Given the description of an element on the screen output the (x, y) to click on. 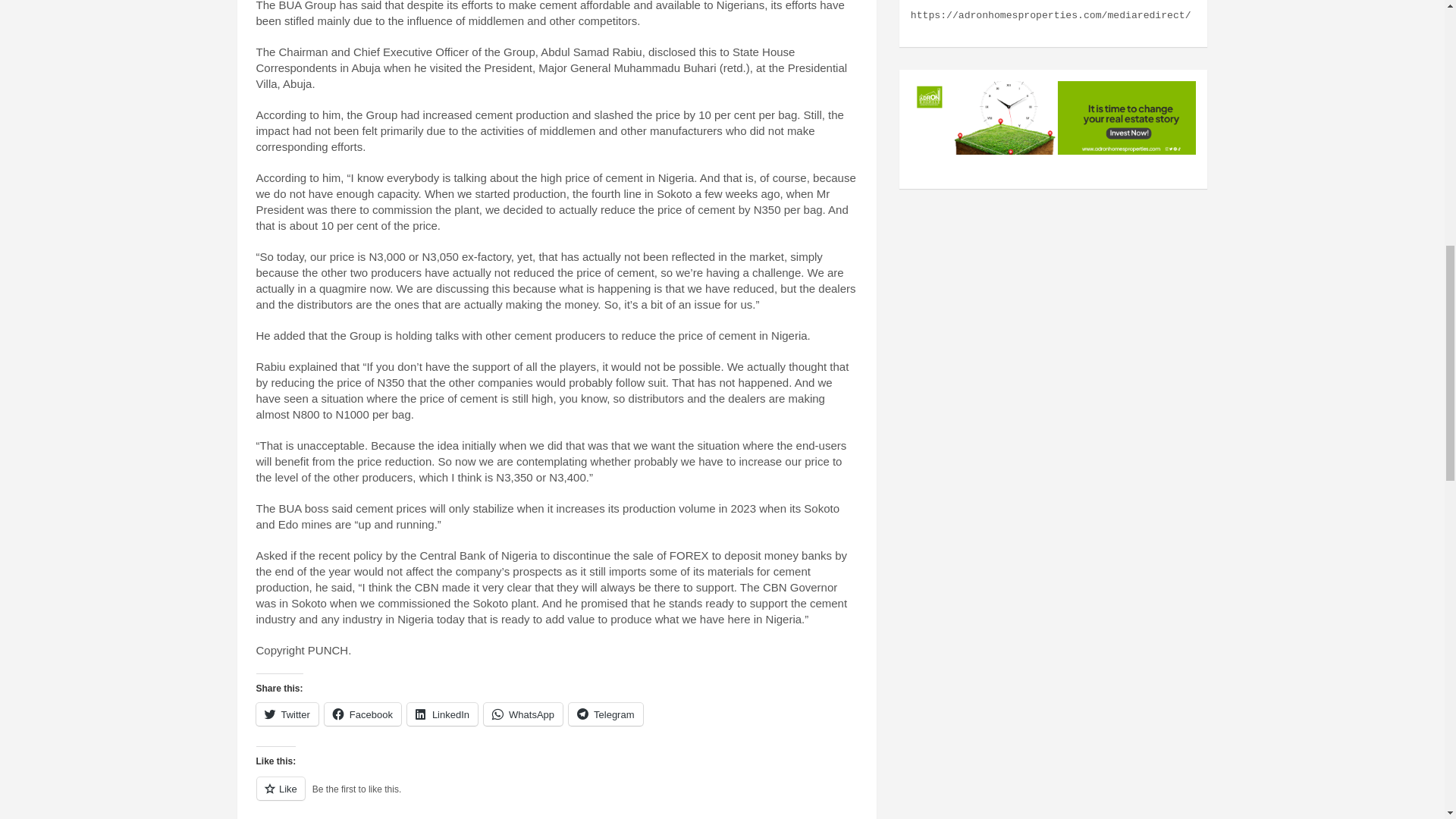
WhatsApp (522, 713)
Click to share on Facebook (362, 713)
Click to share on Twitter (287, 713)
Click to share on Telegram (605, 713)
Click to share on WhatsApp (522, 713)
Telegram (605, 713)
Click to share on LinkedIn (442, 713)
Twitter (287, 713)
LinkedIn (442, 713)
Like or Reblog (556, 797)
